Given the description of an element on the screen output the (x, y) to click on. 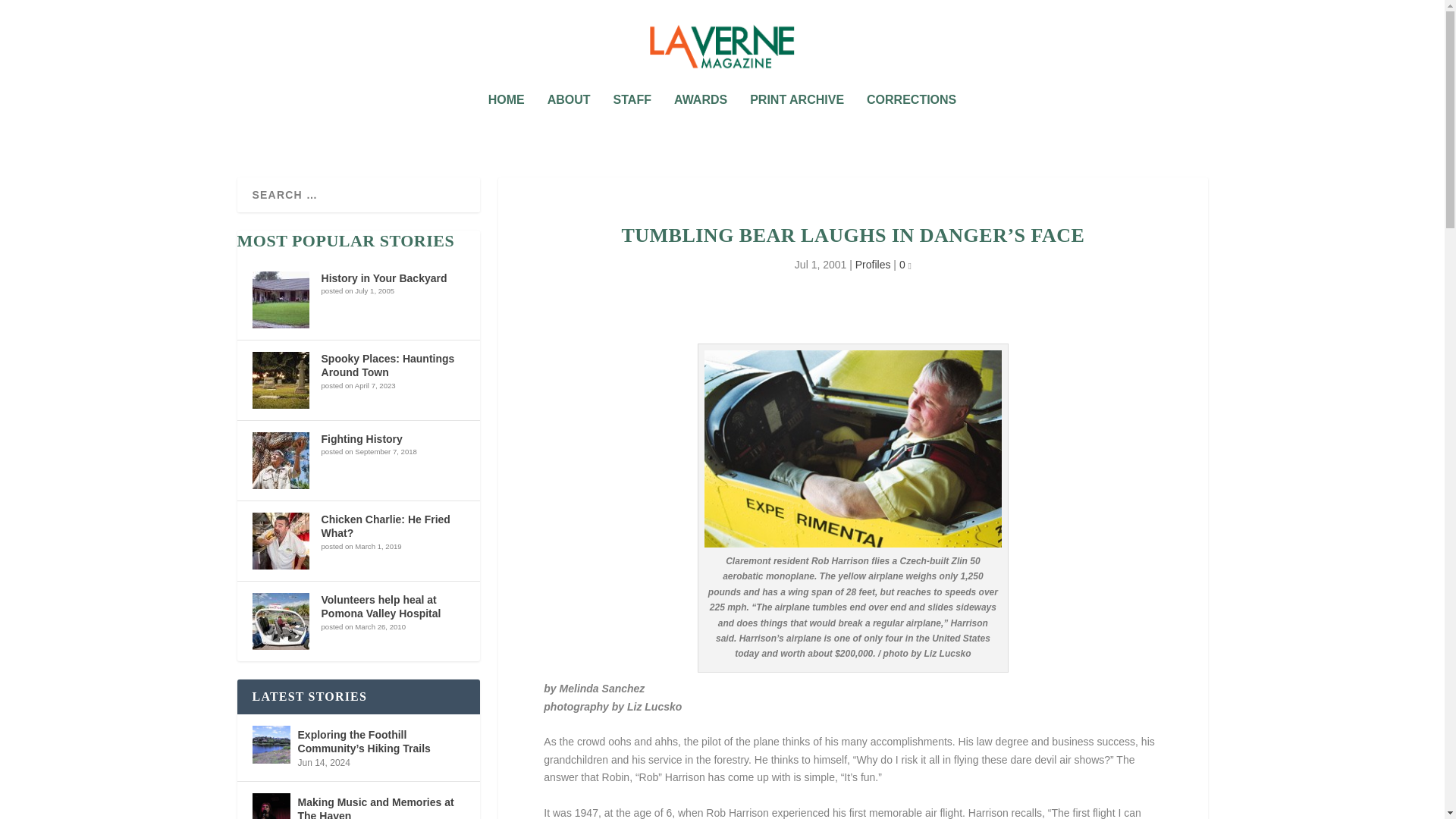
Search (31, 13)
Making Music and Memories at The Haven (270, 806)
PRINT ARCHIVE (796, 120)
0 (905, 264)
Profiles (873, 264)
CORRECTIONS (911, 120)
Spooky Places: Hauntings Around Town (387, 365)
AWARDS (700, 120)
History in Your Backyard (383, 277)
